Given the description of an element on the screen output the (x, y) to click on. 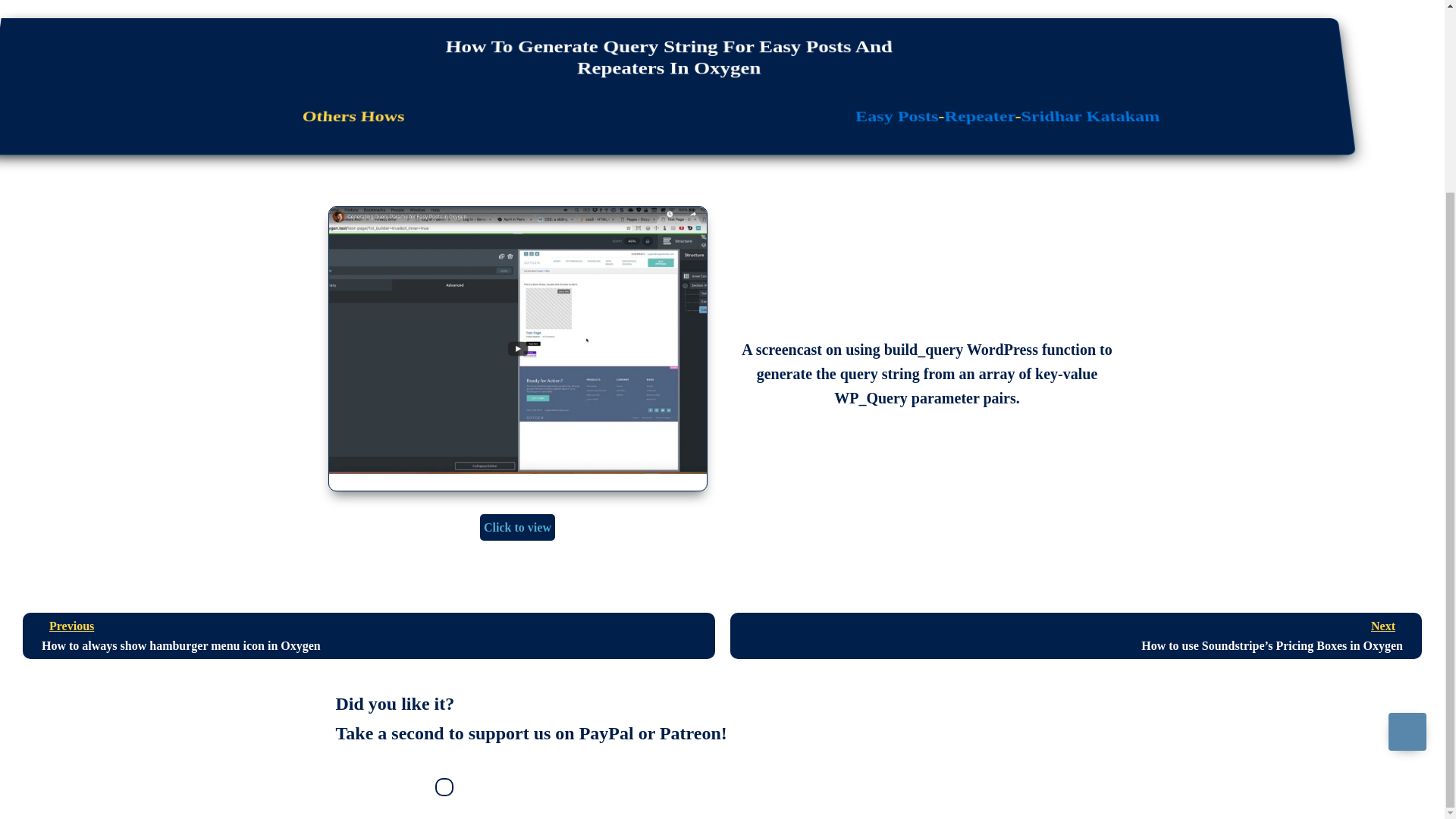
Click to view (517, 527)
Repeater (368, 635)
Sridhar Katakam (978, 117)
Easy Posts (1089, 117)
